Given the description of an element on the screen output the (x, y) to click on. 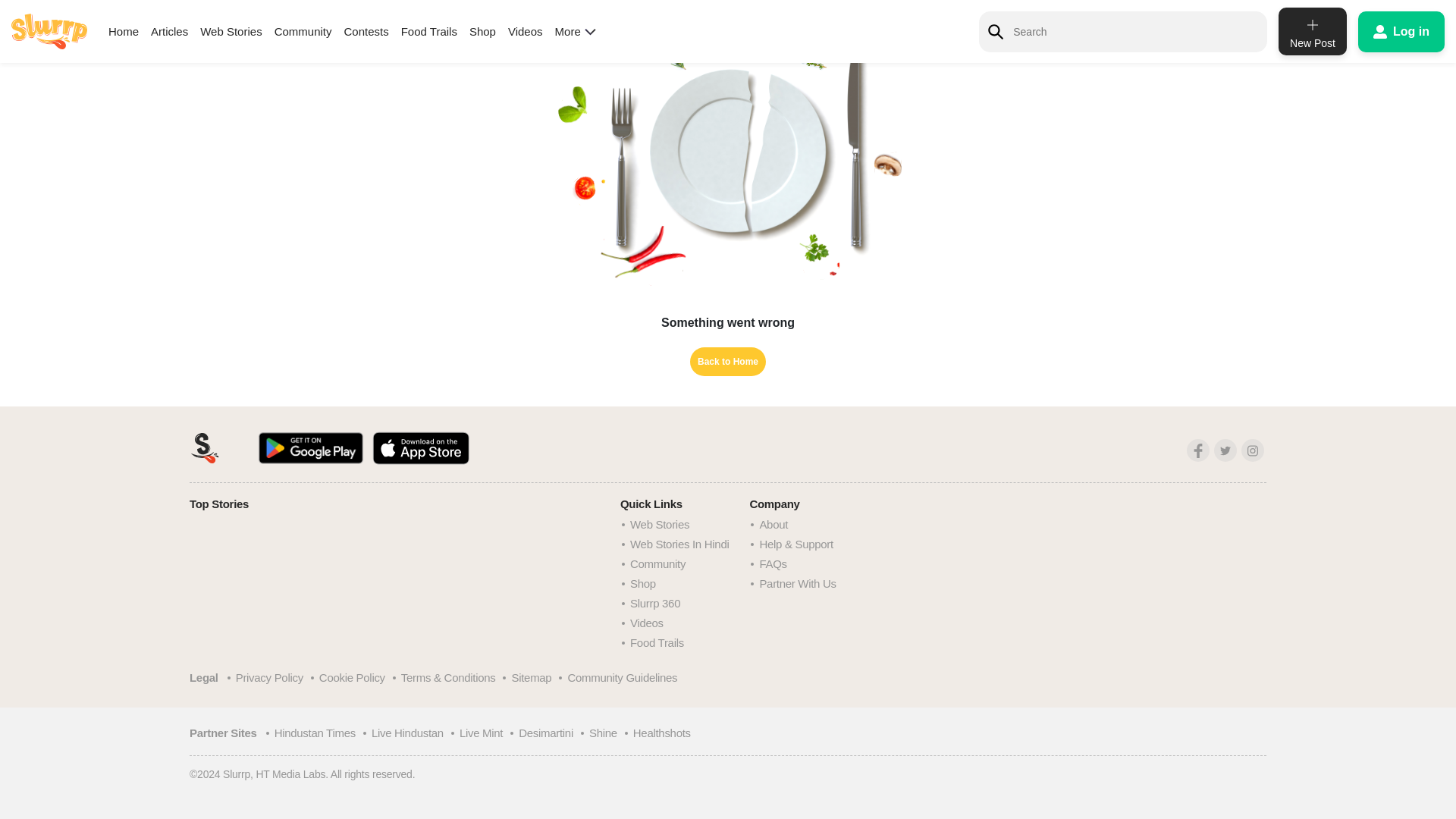
Log in (1401, 2)
New Post (1312, 3)
user login (1401, 2)
Back to Home (727, 361)
